Given the description of an element on the screen output the (x, y) to click on. 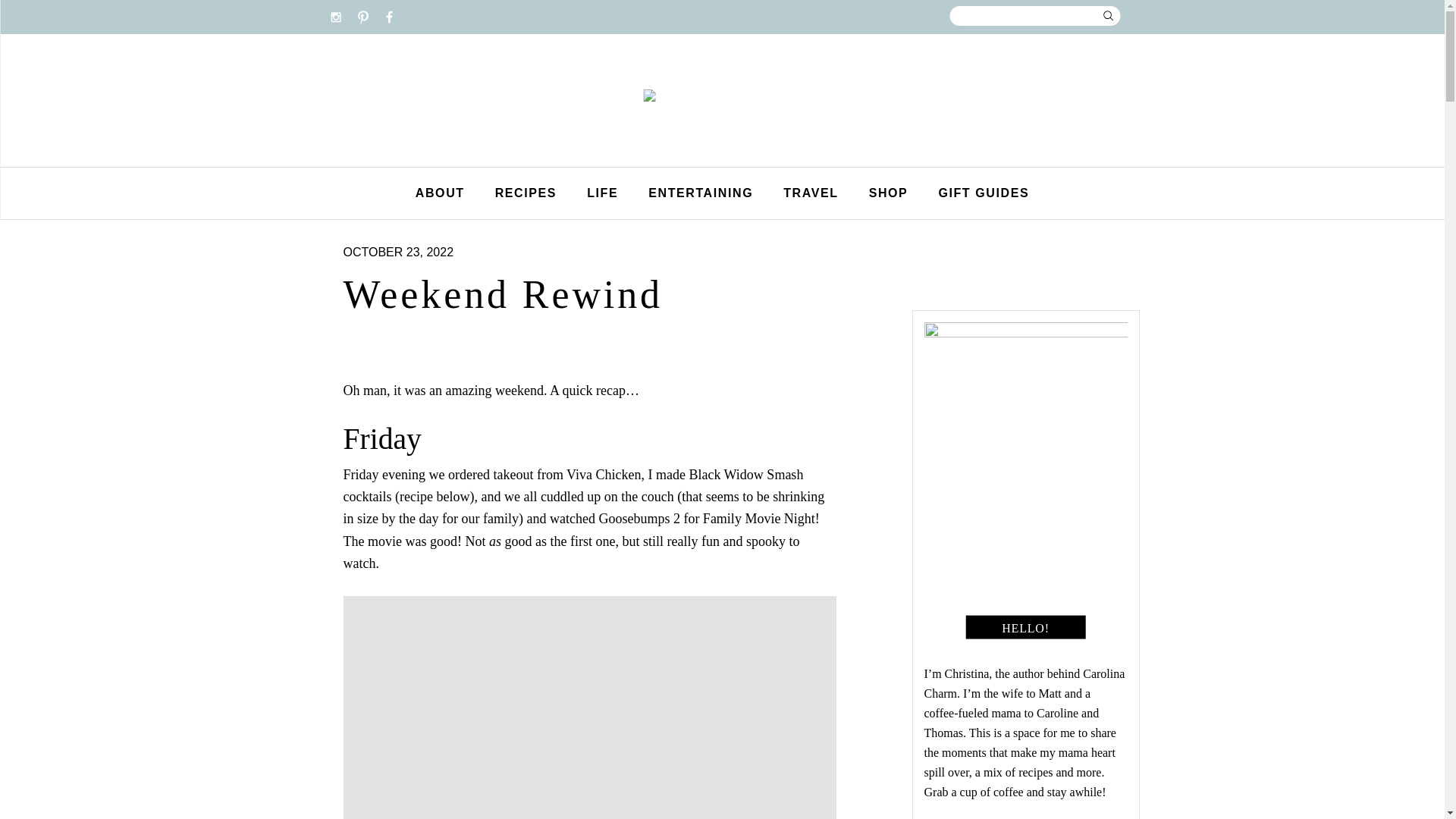
TRAVEL (810, 193)
Pinterest (362, 15)
Search for: (1032, 15)
ABOUT (440, 193)
Facebook (389, 15)
RECIPES (526, 193)
GIFT GUIDES (983, 193)
SHOP (888, 193)
ENTERTAINING (700, 193)
Instagram (335, 15)
LIFE (602, 193)
